Given the description of an element on the screen output the (x, y) to click on. 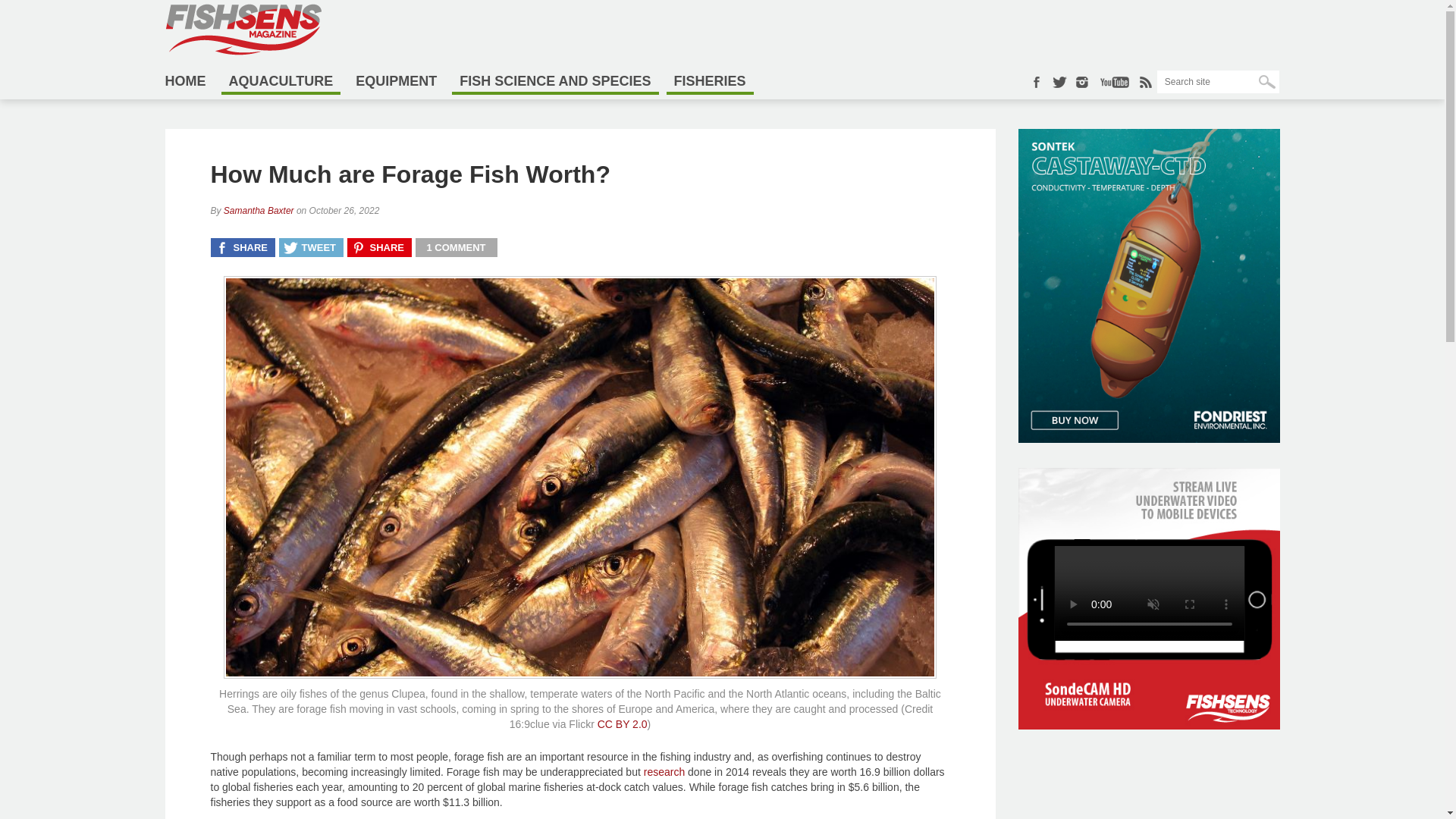
Search site (1218, 81)
CC BY 2.0 (621, 724)
Posts by Samantha Baxter (259, 210)
HOME (189, 80)
AQUACULTURE (280, 82)
research (663, 771)
EQUIPMENT (395, 80)
FishSens SondeCAM HD (1148, 725)
FISH SCIENCE AND SPECIES (554, 82)
Samantha Baxter (259, 210)
